Given the description of an element on the screen output the (x, y) to click on. 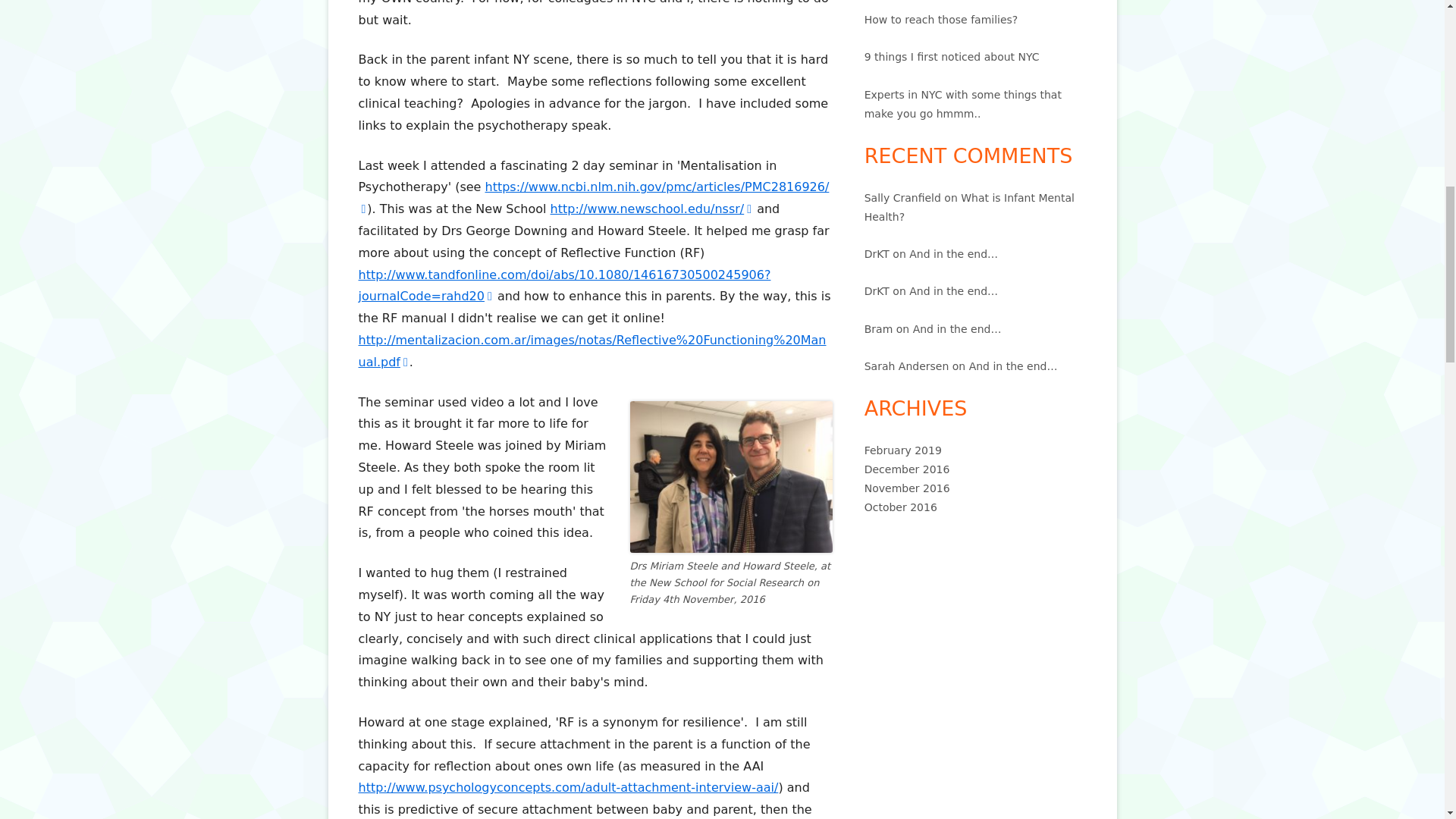
9 things I first noticed about NYC (951, 56)
What is Infant Mental Health? (969, 206)
Sarah Andersen (906, 366)
How to reach those families? (940, 19)
Experts in NYC with some things that make you go hmmm.. (962, 103)
